Given the description of an element on the screen output the (x, y) to click on. 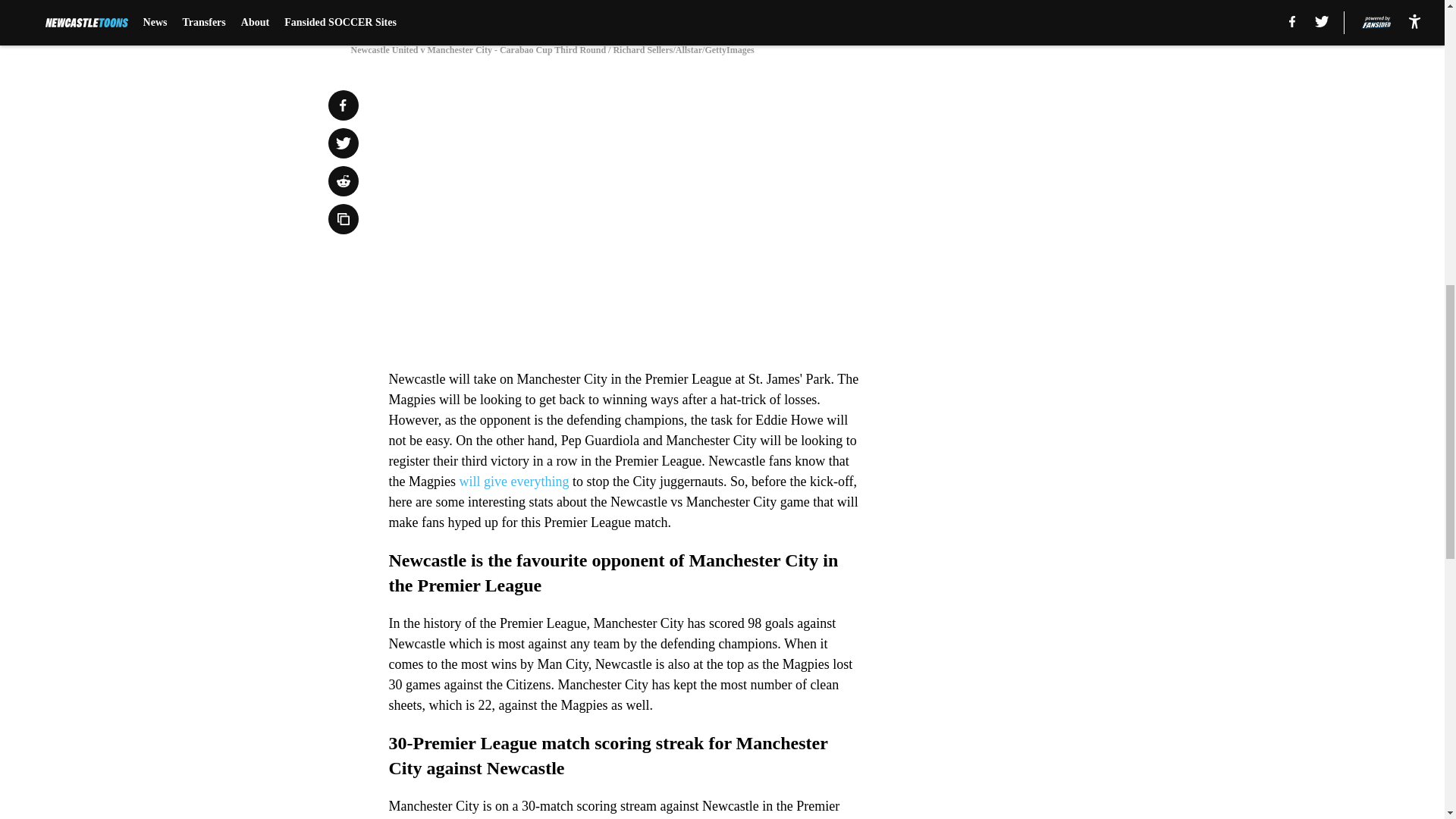
will give everything (513, 481)
Newcastle United v Manchester City - Carabao Cup Third Round (721, 14)
